Given the description of an element on the screen output the (x, y) to click on. 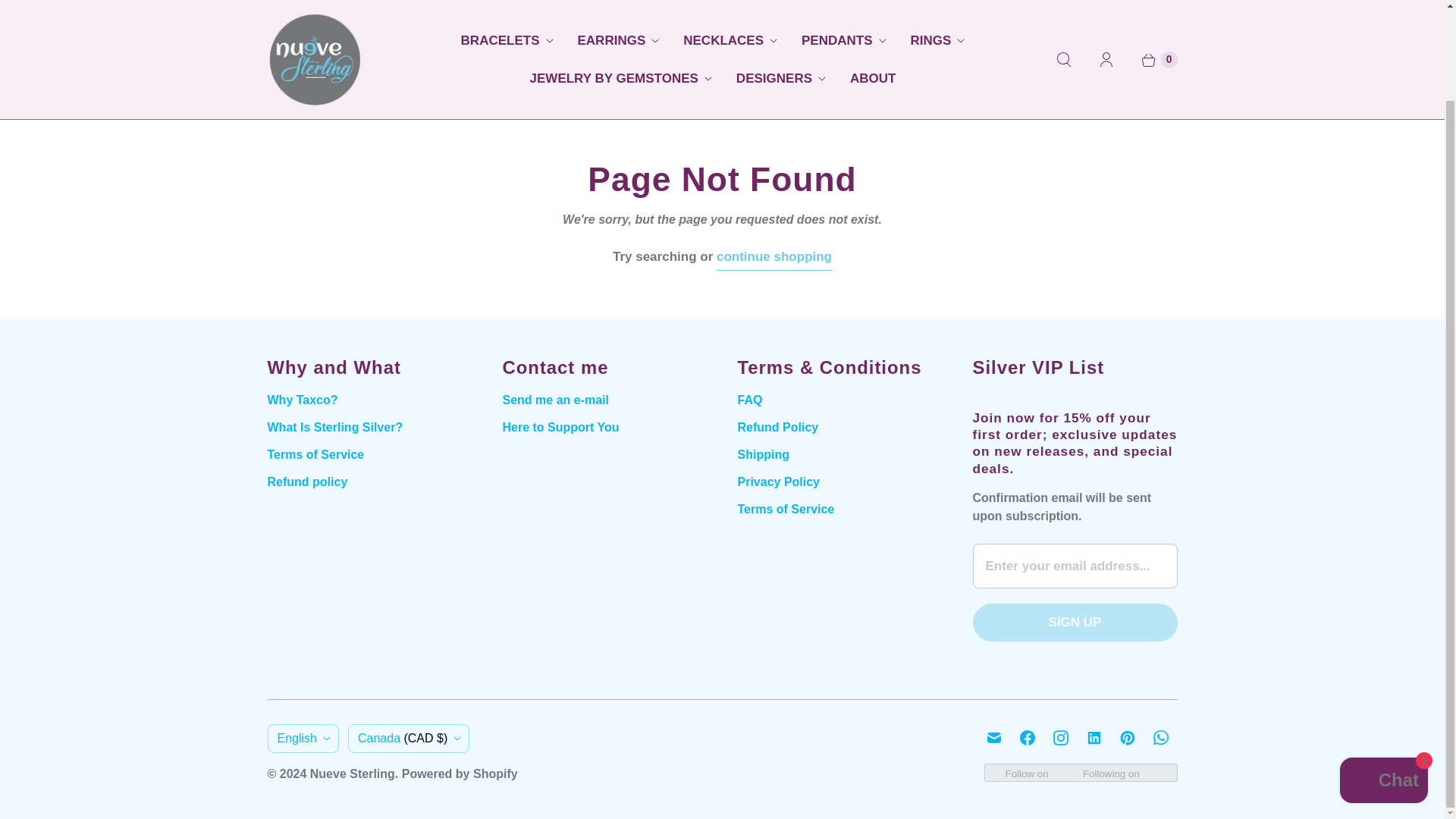
Sign Up (1074, 622)
Shopify online store chat (1383, 677)
